Given the description of an element on the screen output the (x, y) to click on. 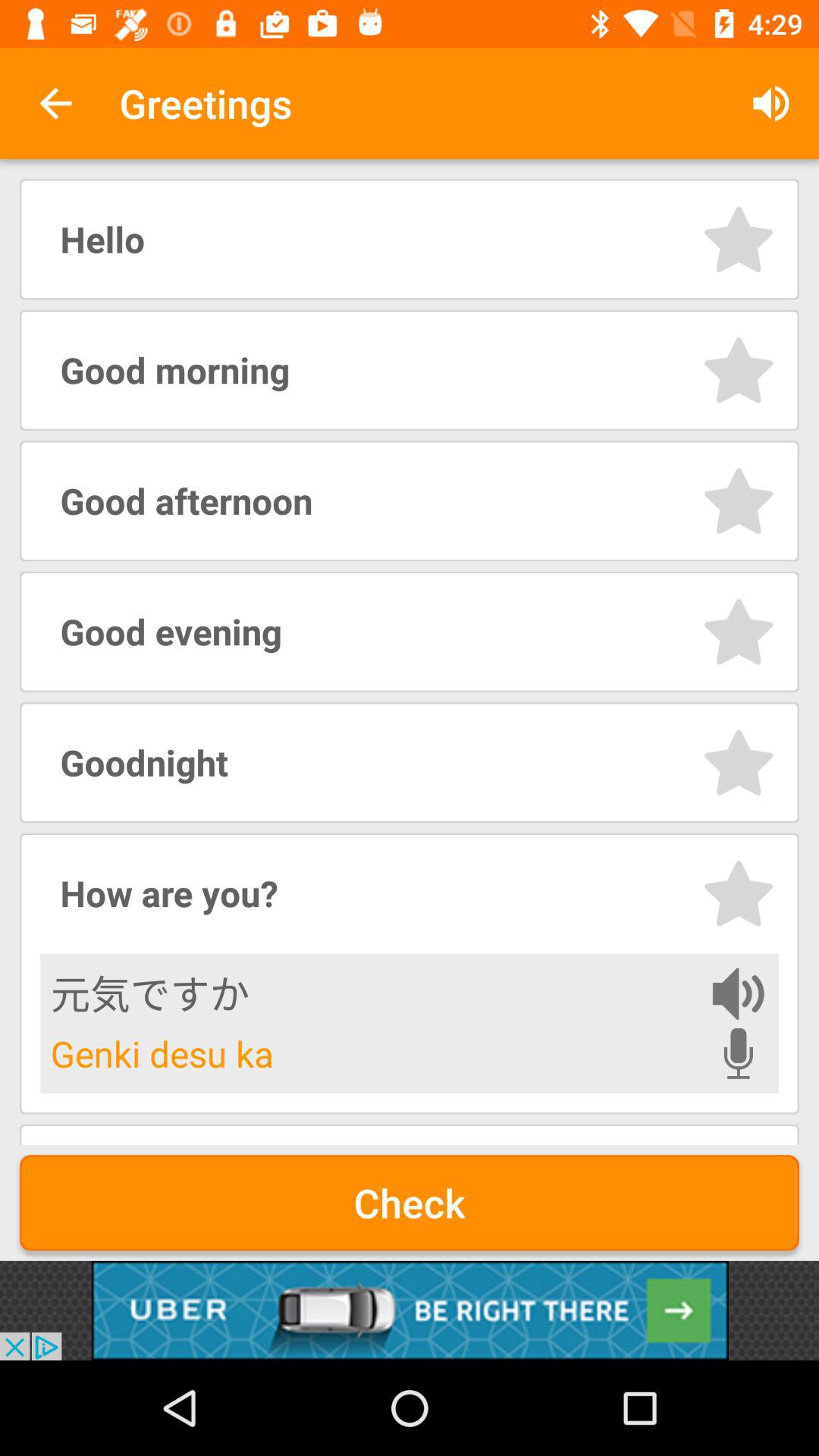
favorite this greeting (738, 500)
